Given the description of an element on the screen output the (x, y) to click on. 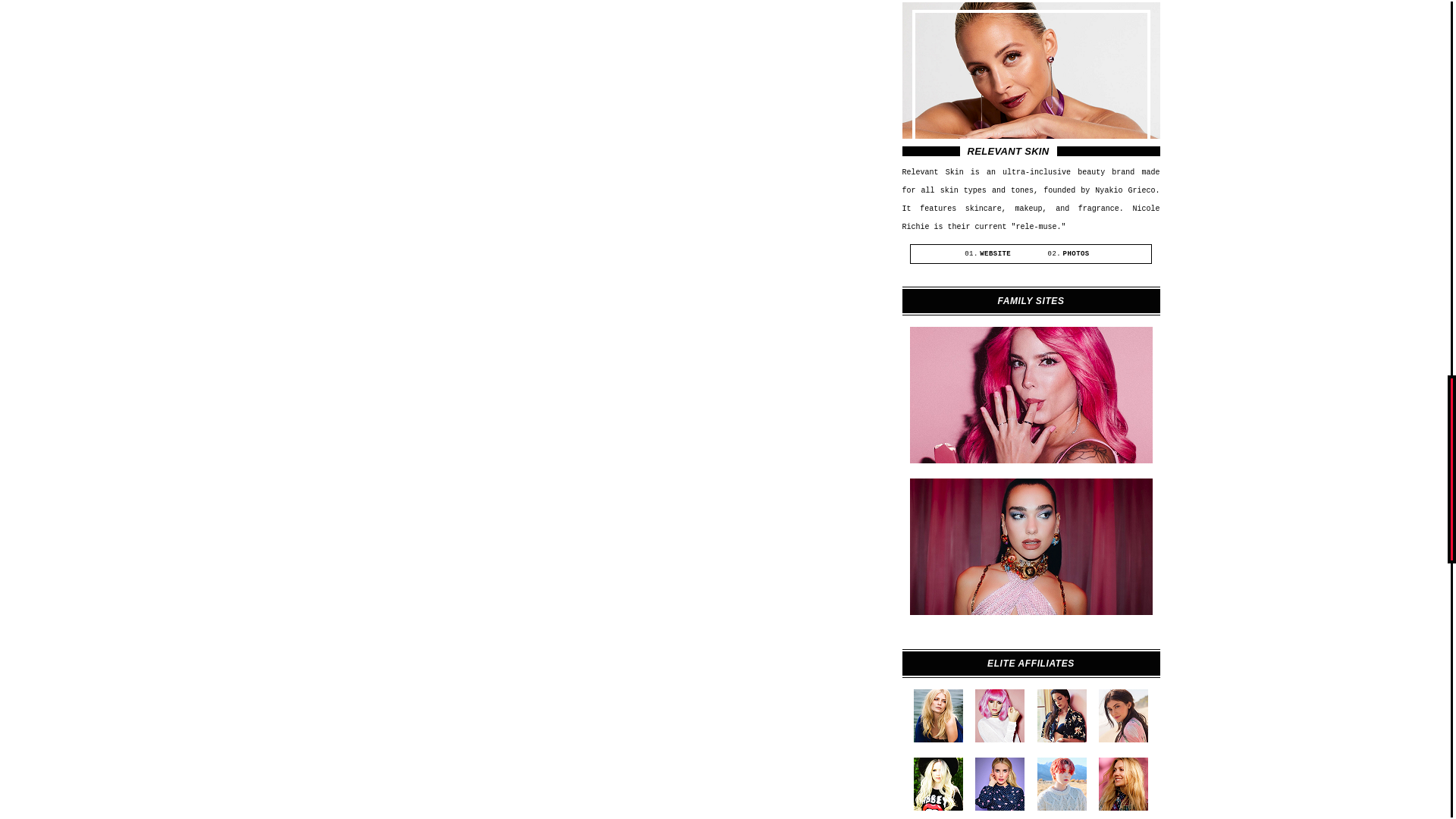
WEBSITE (994, 253)
PHOTOS (1075, 253)
